Given the description of an element on the screen output the (x, y) to click on. 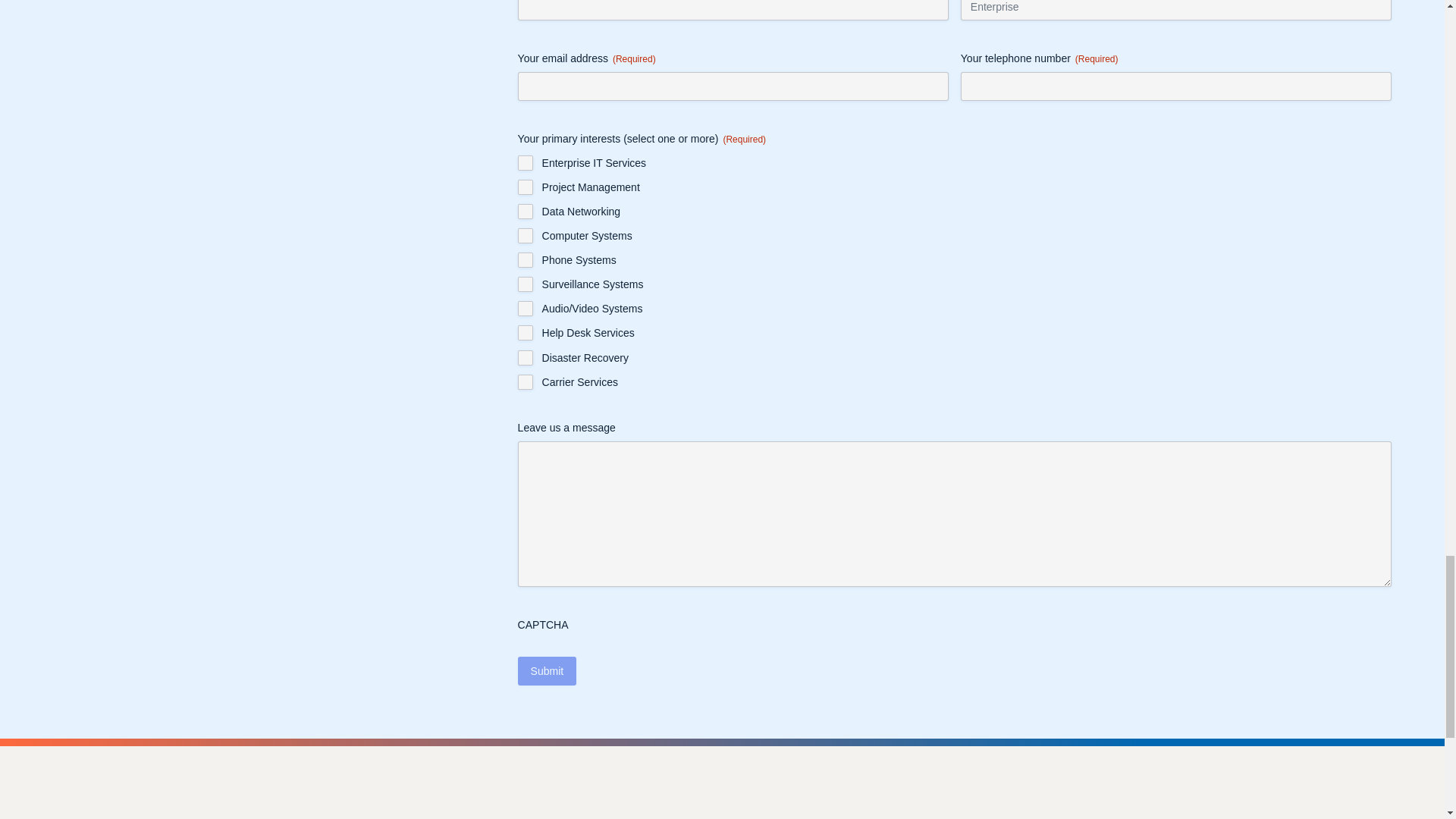
Surveillance Systems (525, 283)
Submit (547, 670)
Enterprise IT Services (525, 162)
Disaster Recovery (525, 357)
Carrier Services (525, 381)
Help Desk Services (525, 332)
Computer Systems (525, 235)
Data Networking (525, 211)
Project Management (525, 186)
Phone Systems (525, 259)
